Given the description of an element on the screen output the (x, y) to click on. 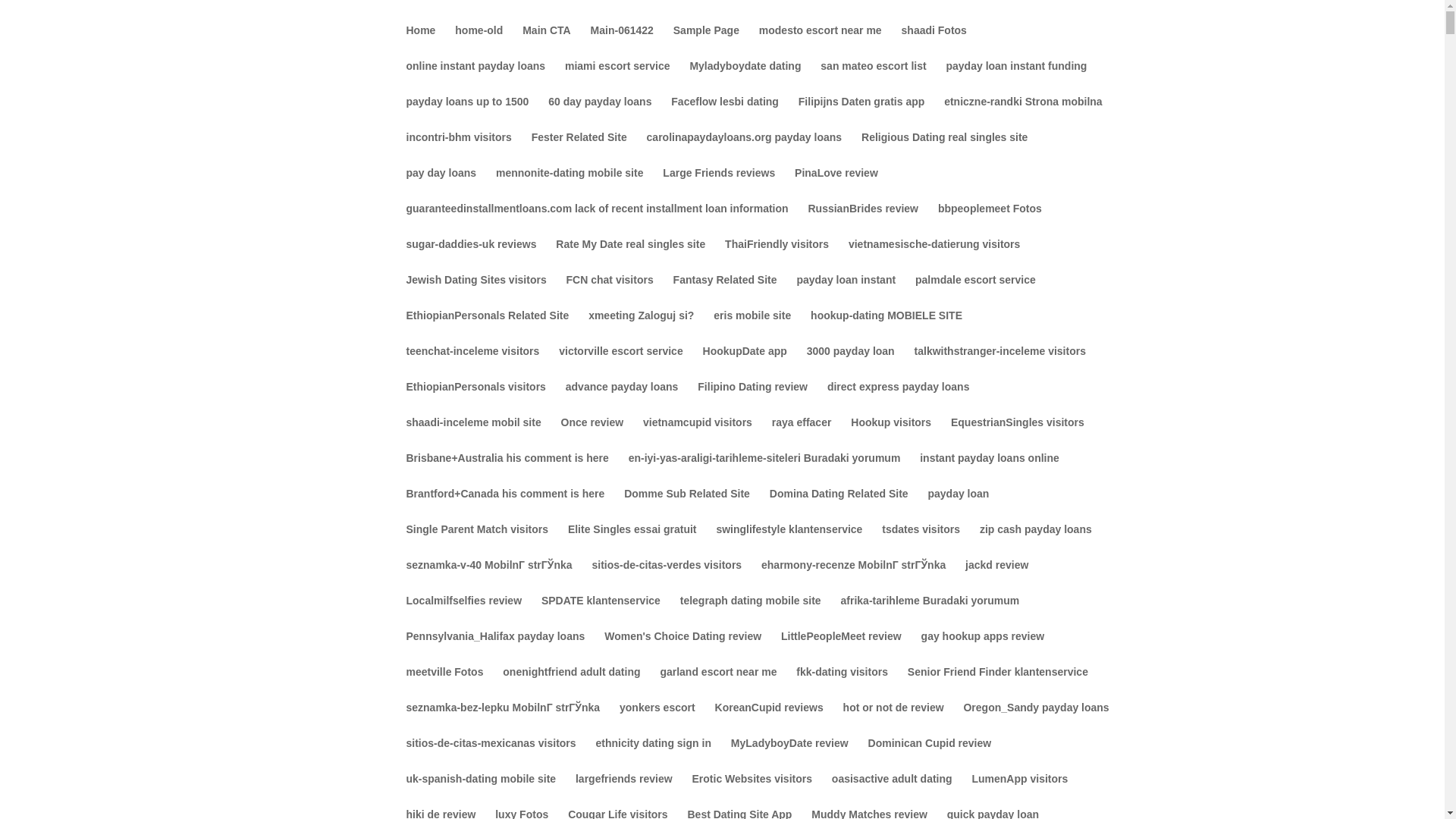
Filipijns Daten gratis app (860, 113)
shaadi Fotos (933, 42)
Myladyboydate dating (744, 78)
home-old (478, 42)
palmdale escort service (975, 292)
RussianBrides review (863, 221)
EthiopianPersonals Related Site (487, 327)
payday loan instant (845, 292)
xmeeting Zaloguj si? (641, 327)
Jewish Dating Sites visitors (476, 292)
etniczne-randki Strona mobilna (1022, 113)
ThaiFriendly visitors (776, 256)
60 day payday loans (599, 113)
bbpeoplemeet Fotos (989, 221)
Faceflow lesbi dating (724, 113)
